Given the description of an element on the screen output the (x, y) to click on. 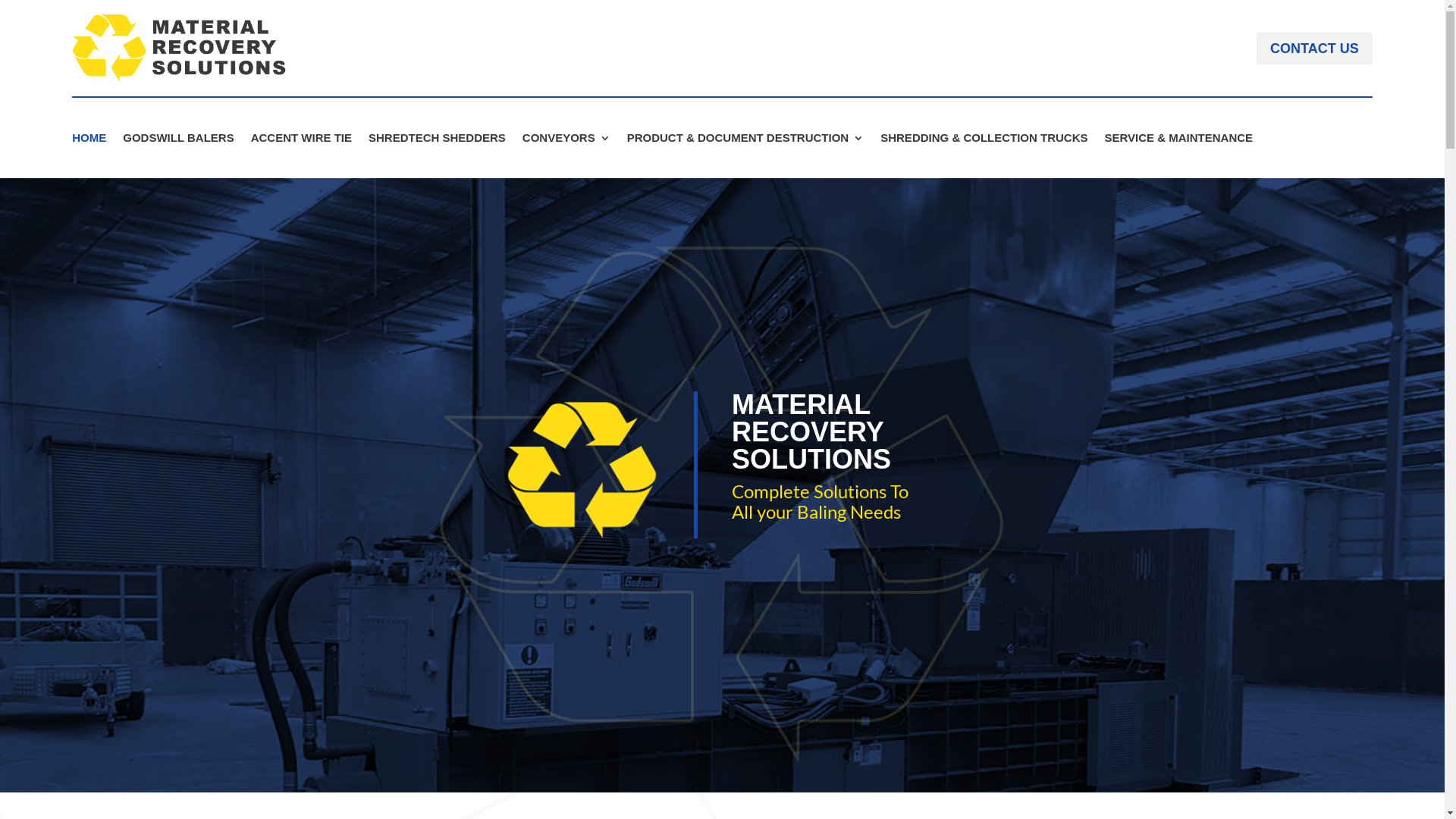
HOME Element type: text (89, 140)
SHREDDING & COLLECTION TRUCKS Element type: text (983, 140)
Material-Recovery-Solutions-Logo-Dark Element type: hover (179, 47)
ACCENT WIRE TIE Element type: text (301, 140)
PRODUCT & DOCUMENT DESTRUCTION Element type: text (745, 140)
SHREDTECH SHEDDERS Element type: text (436, 140)
Logo-Outline Element type: hover (722, 485)
Material-Recovery-Solutions-Logo-IconOnly Element type: hover (582, 464)
CONVEYORS Element type: text (566, 140)
GODSWILL BALERS Element type: text (177, 140)
SERVICE & MAINTENANCE Element type: text (1178, 140)
CONTACT US Element type: text (1314, 47)
